Given the description of an element on the screen output the (x, y) to click on. 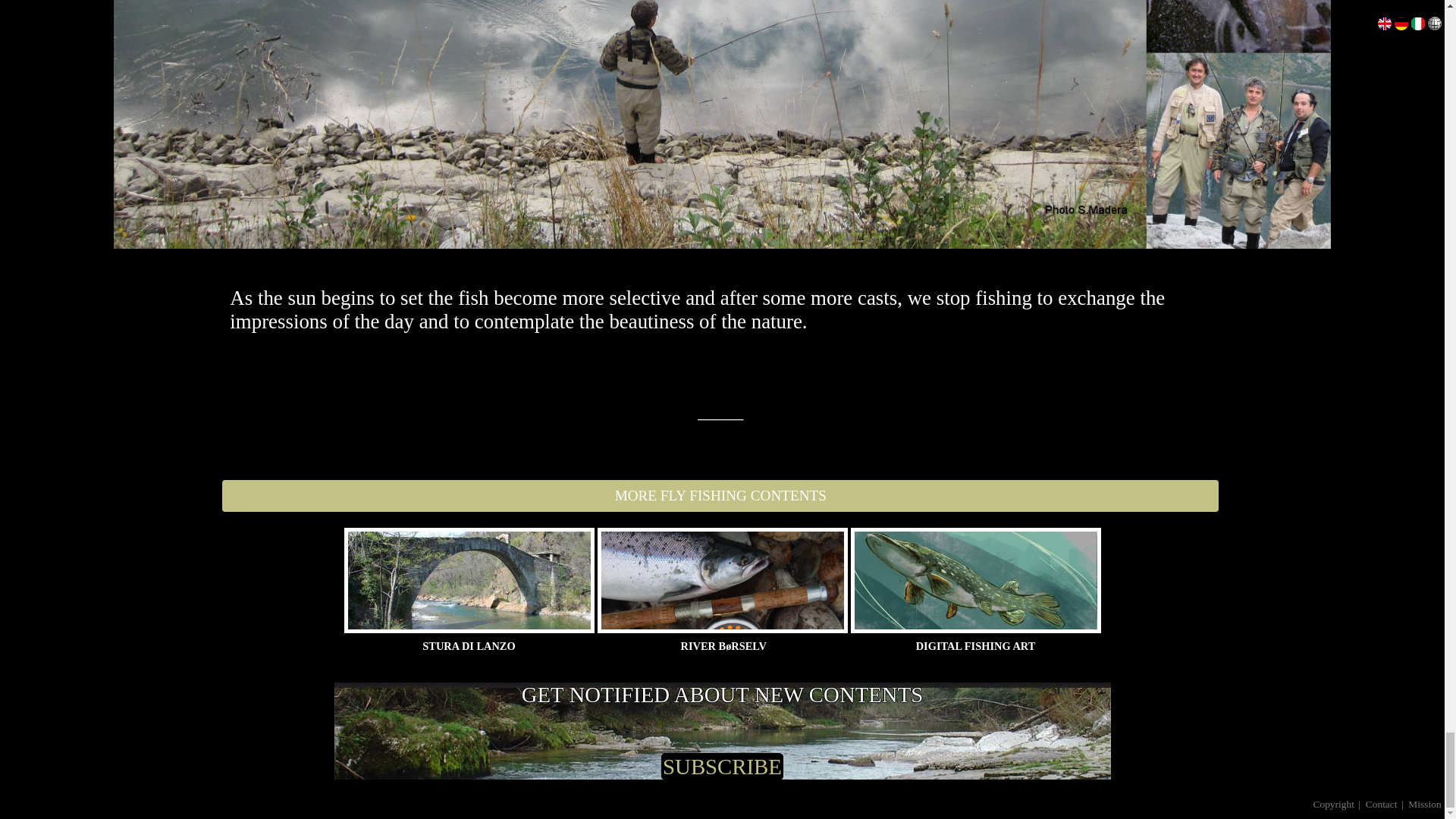
SUBSCRIBE (722, 766)
